Given the description of an element on the screen output the (x, y) to click on. 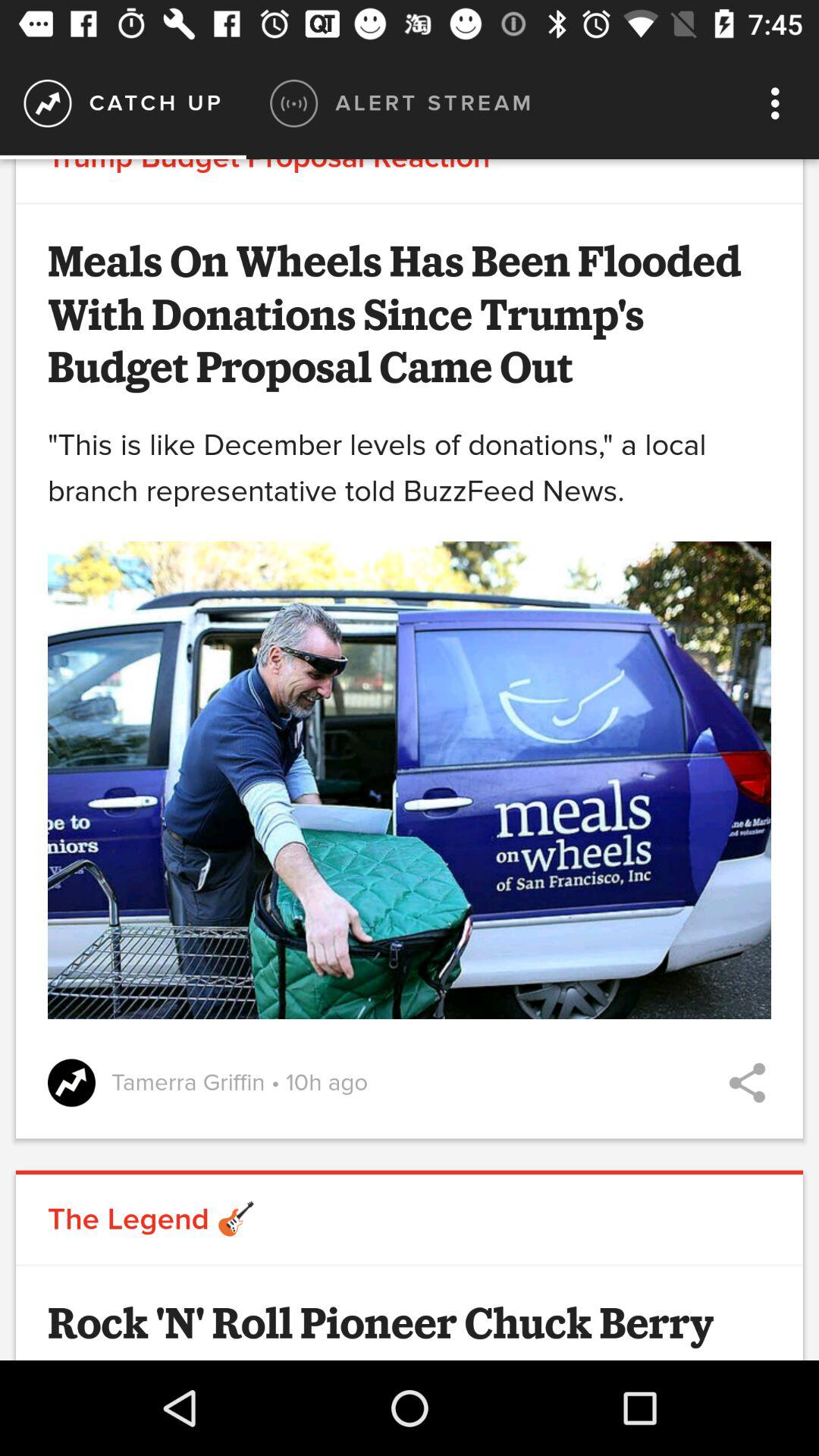
open icon at the bottom right corner (747, 1082)
